Given the description of an element on the screen output the (x, y) to click on. 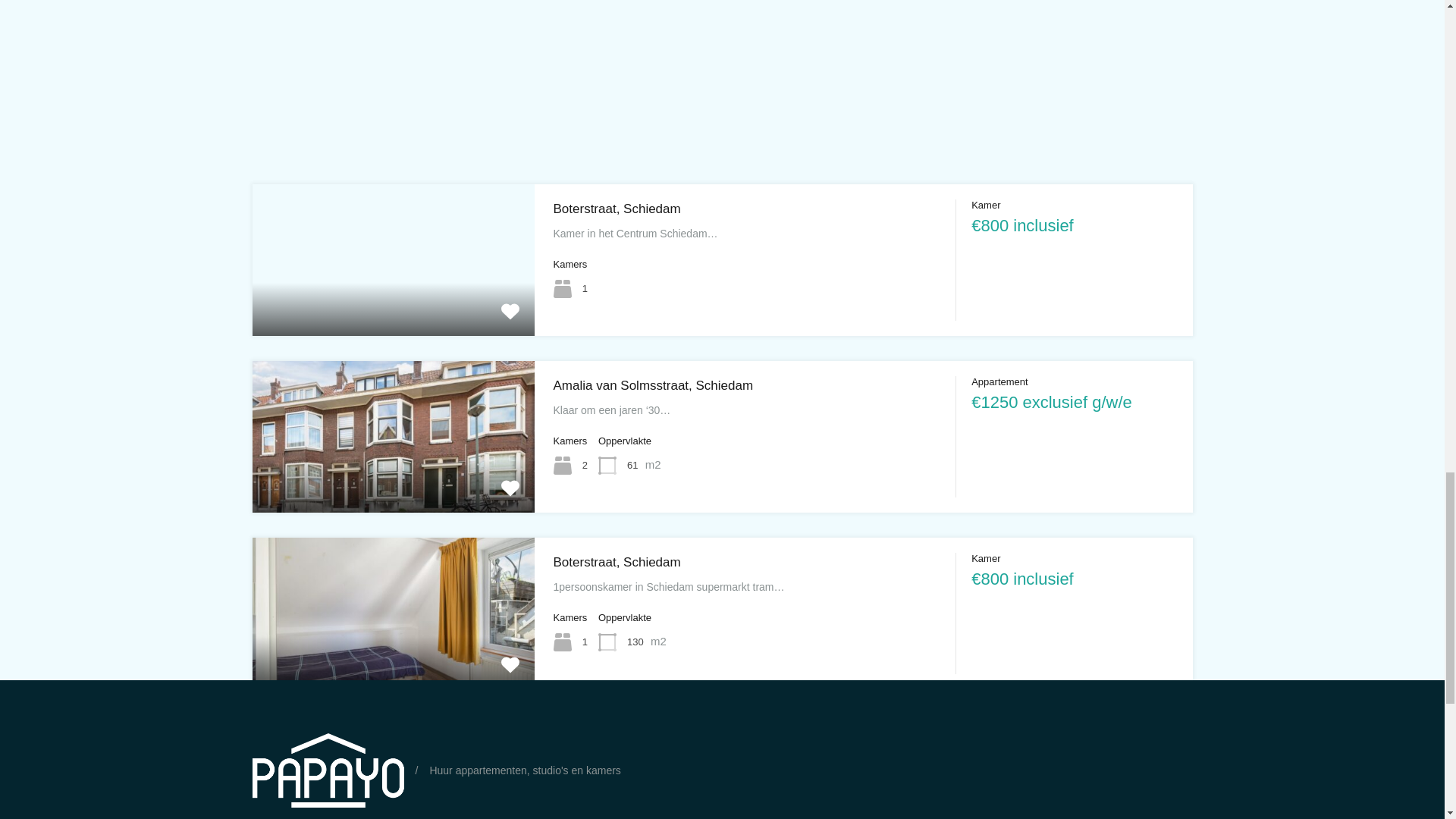
Papayo (327, 770)
